Given the description of an element on the screen output the (x, y) to click on. 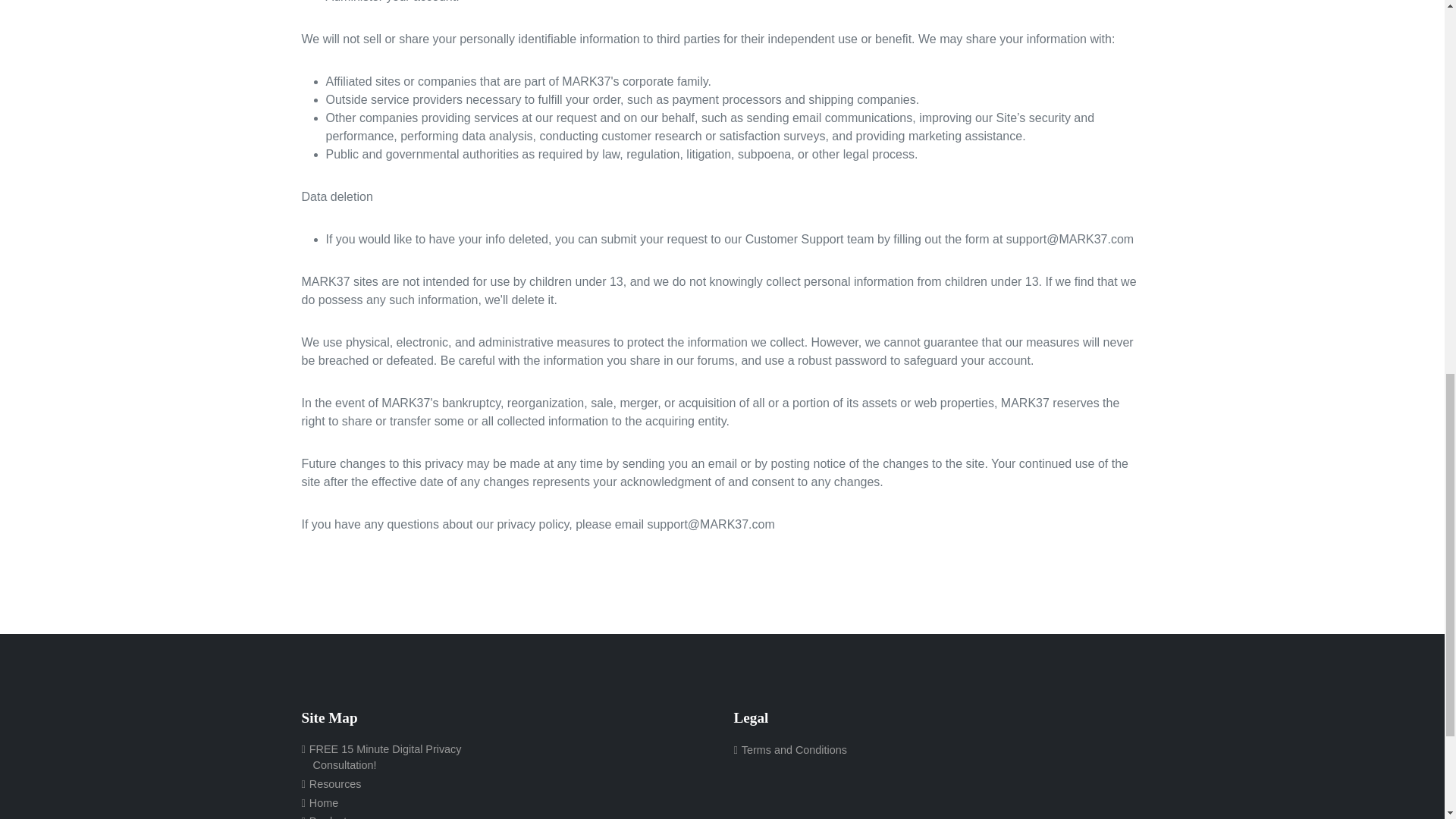
Resources (331, 784)
Products (326, 816)
Home (320, 802)
Terms and Conditions (790, 750)
FREE 15 Minute Digital Privacy Consultation! (398, 757)
